Given the description of an element on the screen output the (x, y) to click on. 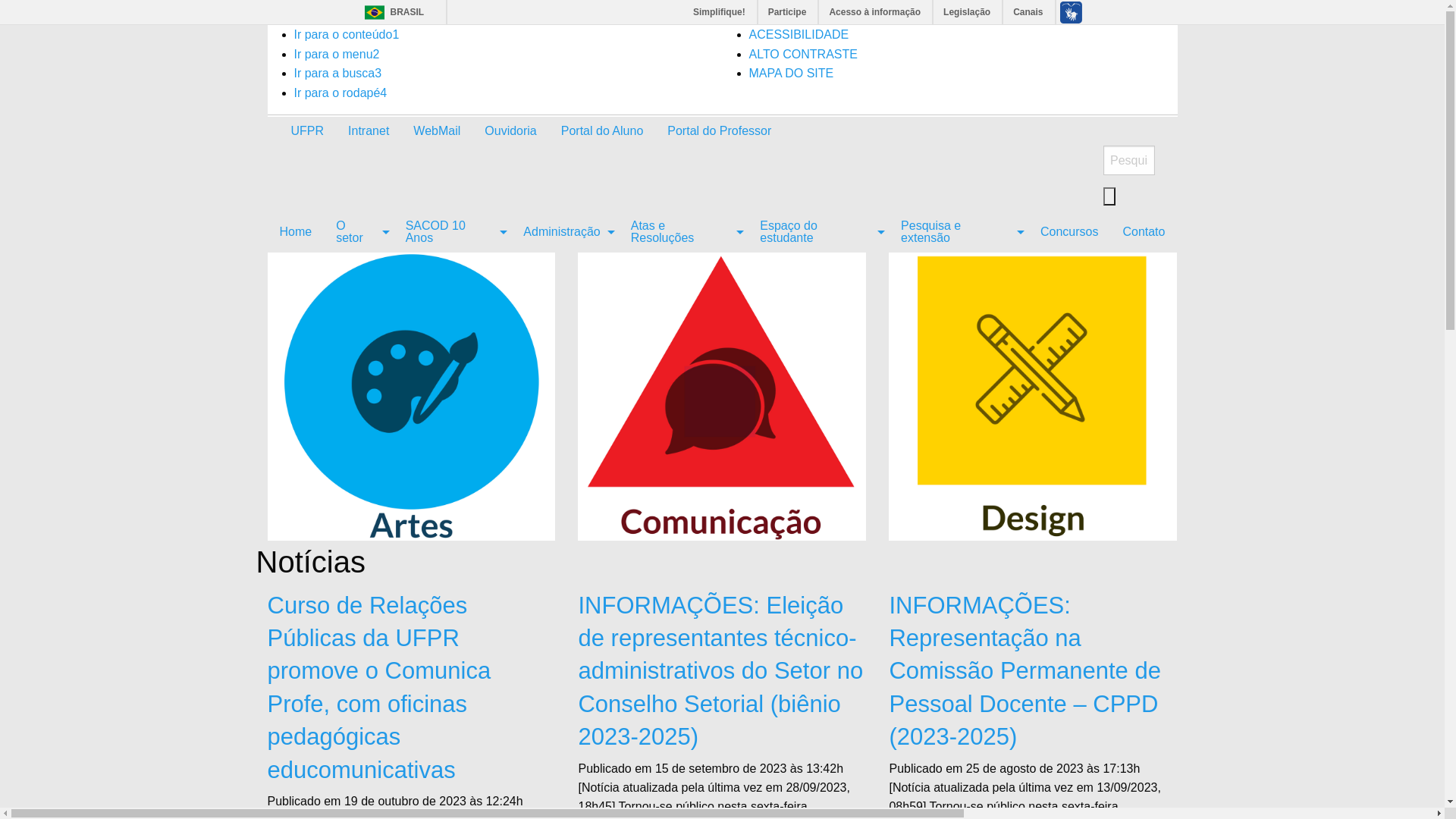
Home Element type: text (294, 230)
Ir para o menu2 Element type: text (336, 53)
MAPA DO SITE Element type: text (791, 72)
Intranet Element type: text (368, 130)
O setor Element type: text (358, 230)
UFPR Element type: text (307, 130)
BRASIL Element type: text (389, 12)
Canais Element type: text (1028, 11)
Contato Element type: text (1143, 230)
Portal do Aluno Element type: text (602, 130)
ALTO CONTRASTE Element type: text (803, 53)
Concursos Element type: text (1069, 230)
ACESSIBILIDADE Element type: text (799, 34)
Simplifique! Element type: text (719, 11)
Portal do Professor Element type: text (719, 130)
Ouvidoria Element type: text (510, 130)
Participe Element type: text (788, 11)
WebMail Element type: text (436, 130)
Ir para a busca3 Element type: text (338, 72)
SACOD 10 Anos Element type: text (452, 230)
